Given the description of an element on the screen output the (x, y) to click on. 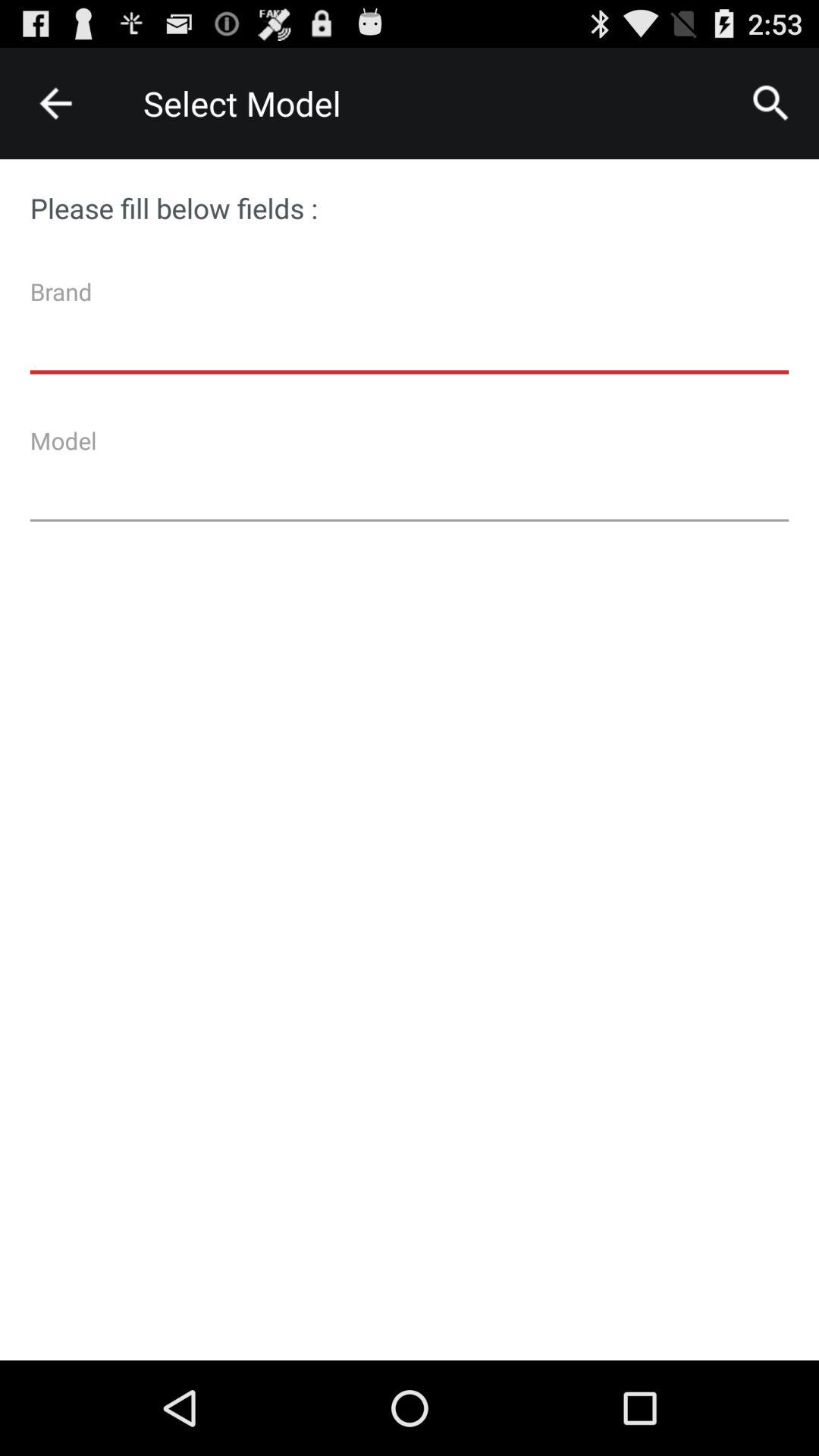
press the item above please fill below (771, 103)
